Given the description of an element on the screen output the (x, y) to click on. 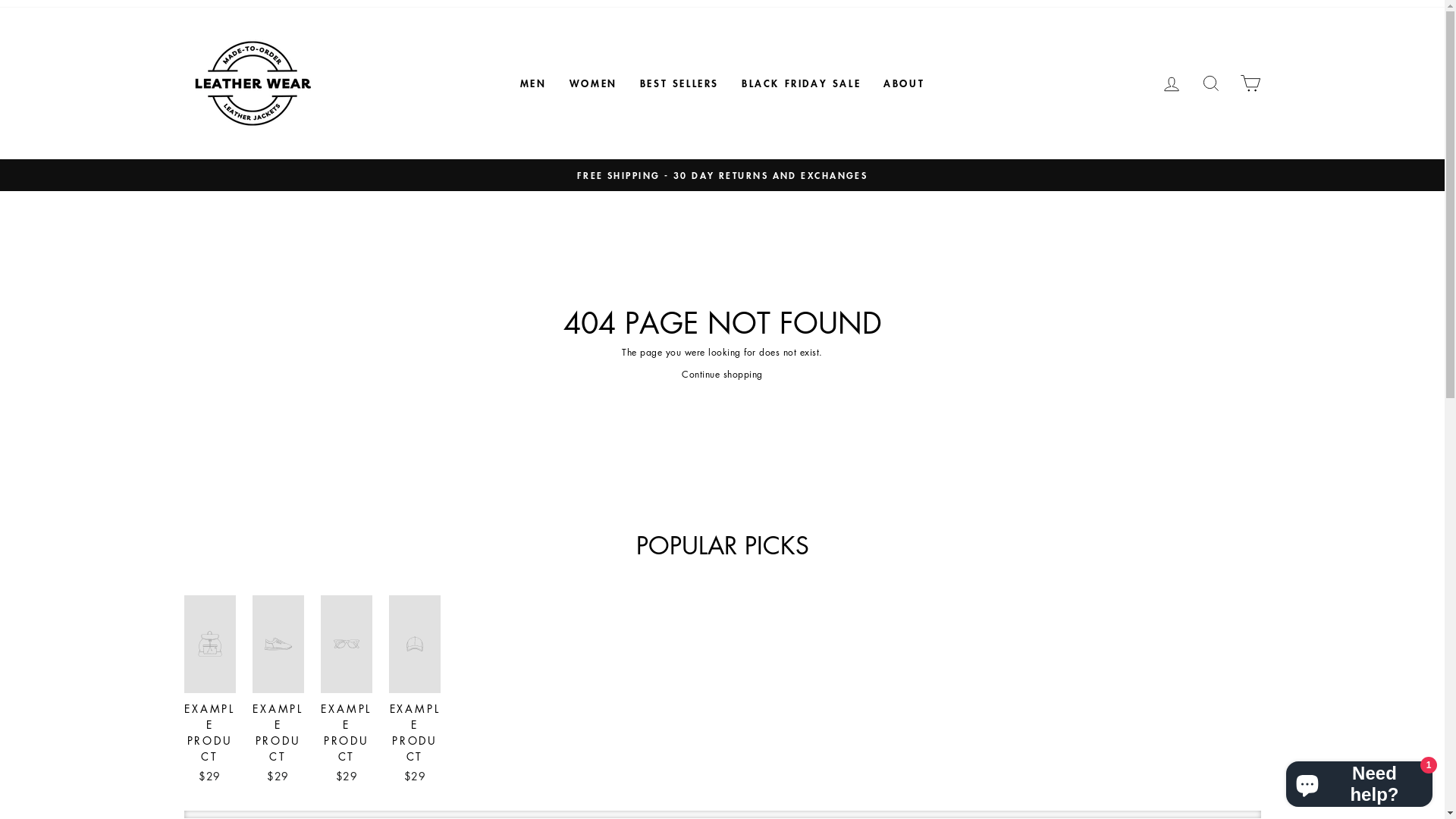
BLACK FRIDAY SALE Element type: text (801, 83)
BEST SELLERS Element type: text (679, 83)
EXAMPLE PRODUCT
$29 Element type: text (346, 691)
Continue shopping Element type: text (721, 374)
ABOUT Element type: text (903, 83)
EXAMPLE PRODUCT
$29 Element type: text (414, 691)
MEN Element type: text (533, 83)
LOG IN Element type: text (1170, 82)
SEARCH Element type: text (1210, 82)
CART Element type: text (1249, 82)
WOMEN Element type: text (593, 83)
Shopify online store chat Element type: hover (1359, 780)
EXAMPLE PRODUCT
$29 Element type: text (209, 691)
EXAMPLE PRODUCT
$29 Element type: text (278, 691)
Skip to content Element type: text (0, 0)
